Given the description of an element on the screen output the (x, y) to click on. 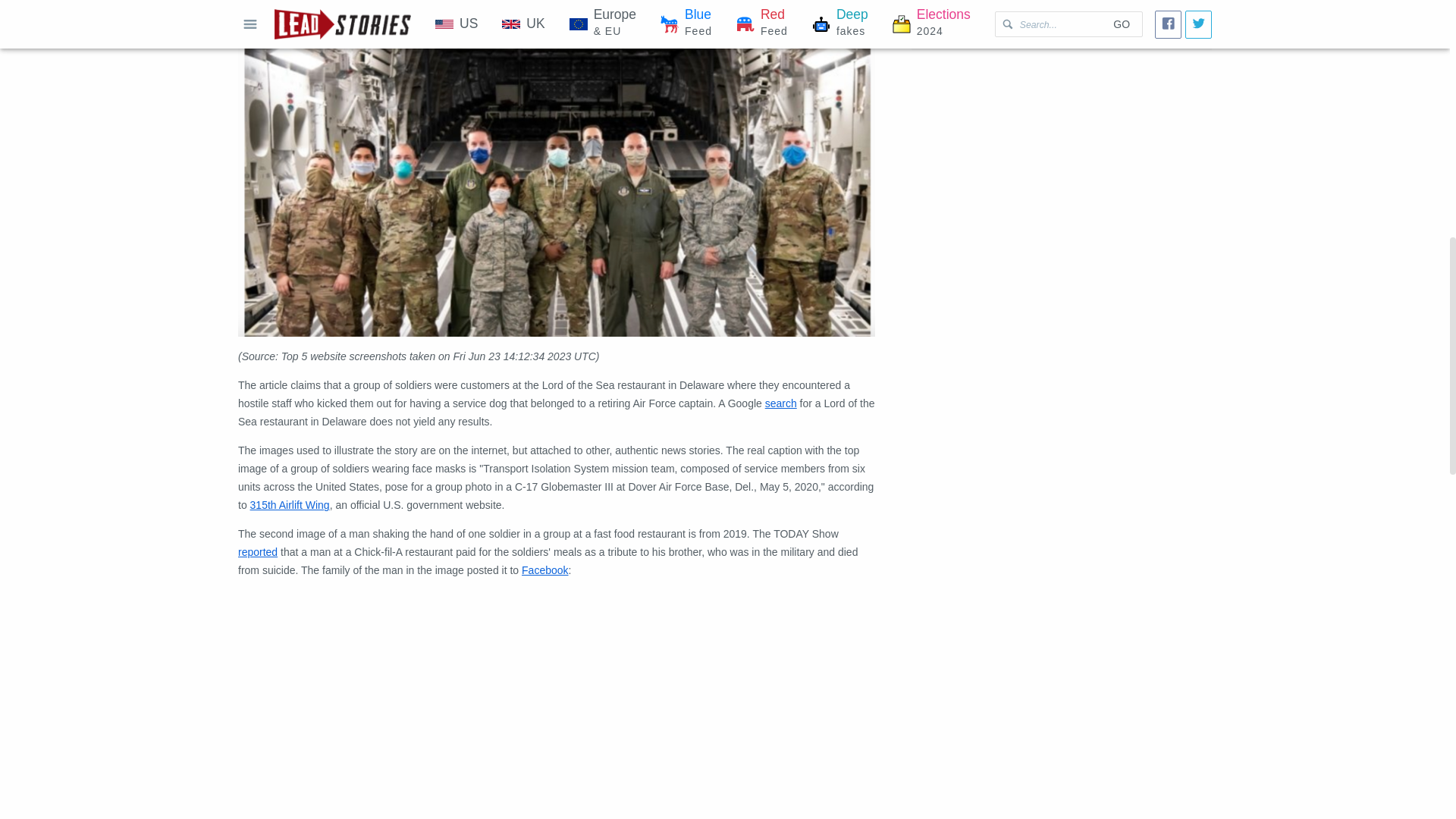
reported (258, 551)
315th Airlift Wing (290, 504)
Facebook (544, 570)
search (780, 403)
